Given the description of an element on the screen output the (x, y) to click on. 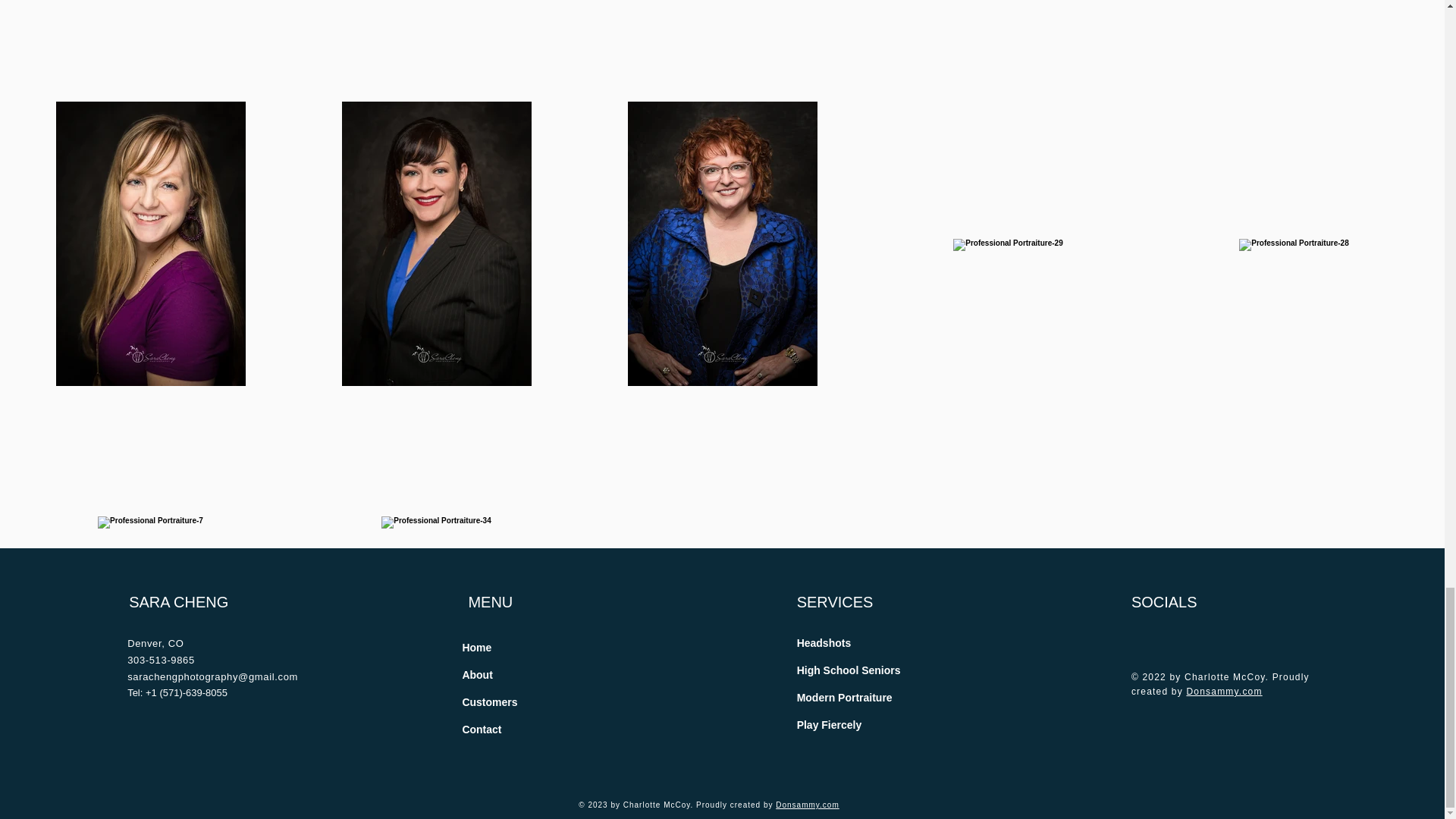
SARA CHENG (178, 601)
MENU (489, 601)
About (476, 674)
Play Fiercely (828, 725)
Customers (488, 702)
Donsammy.com (808, 804)
High School Seniors (848, 670)
Home (476, 647)
Donsammy.com (1224, 691)
Modern Portraiture (844, 697)
SOCIALS (1163, 601)
Contact (480, 729)
Headshots (823, 643)
SERVICES (834, 601)
